Given the description of an element on the screen output the (x, y) to click on. 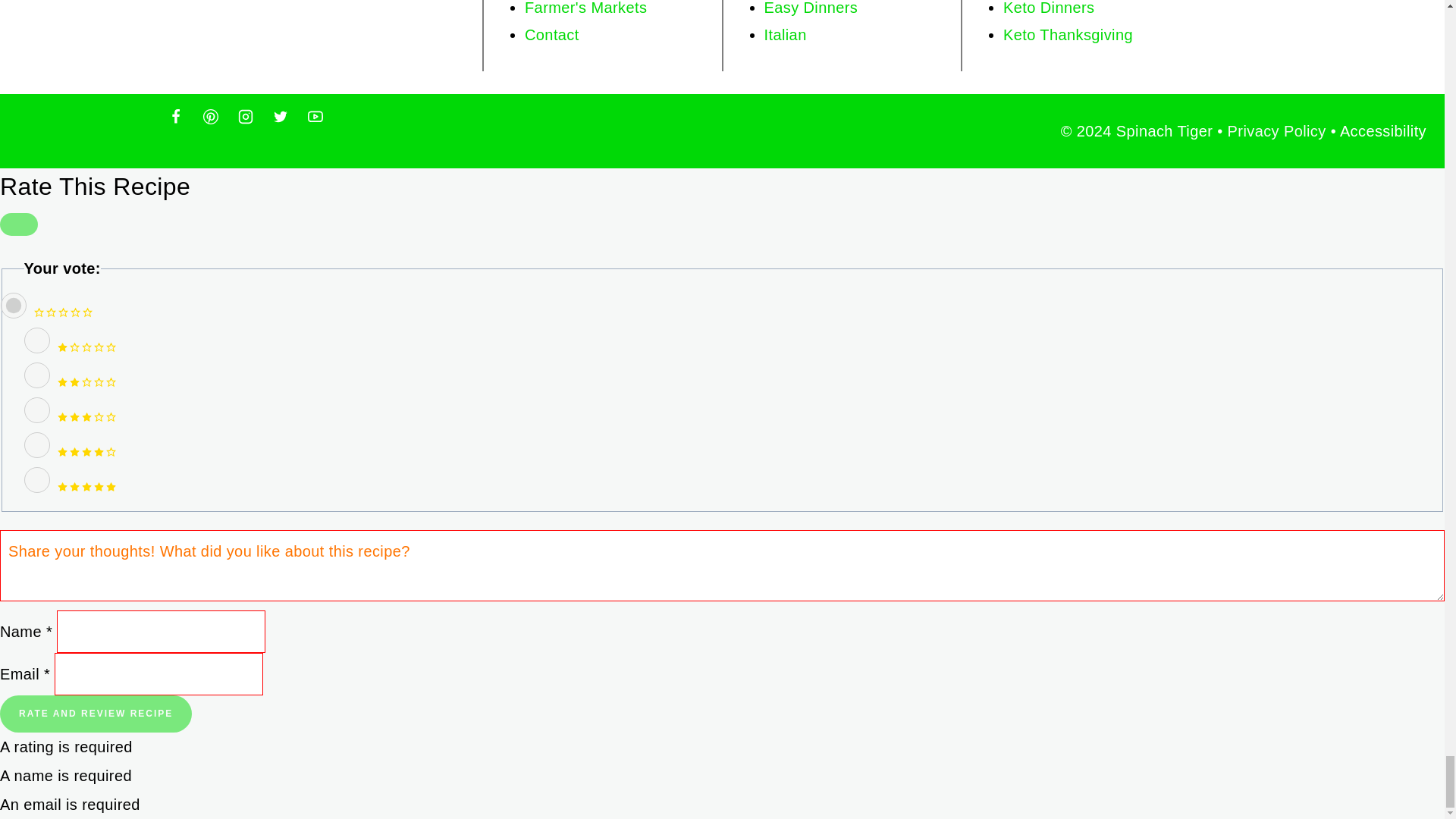
0 (13, 305)
2 (36, 375)
1 (36, 339)
5 (36, 479)
3 (36, 410)
4 (36, 444)
